Given the description of an element on the screen output the (x, y) to click on. 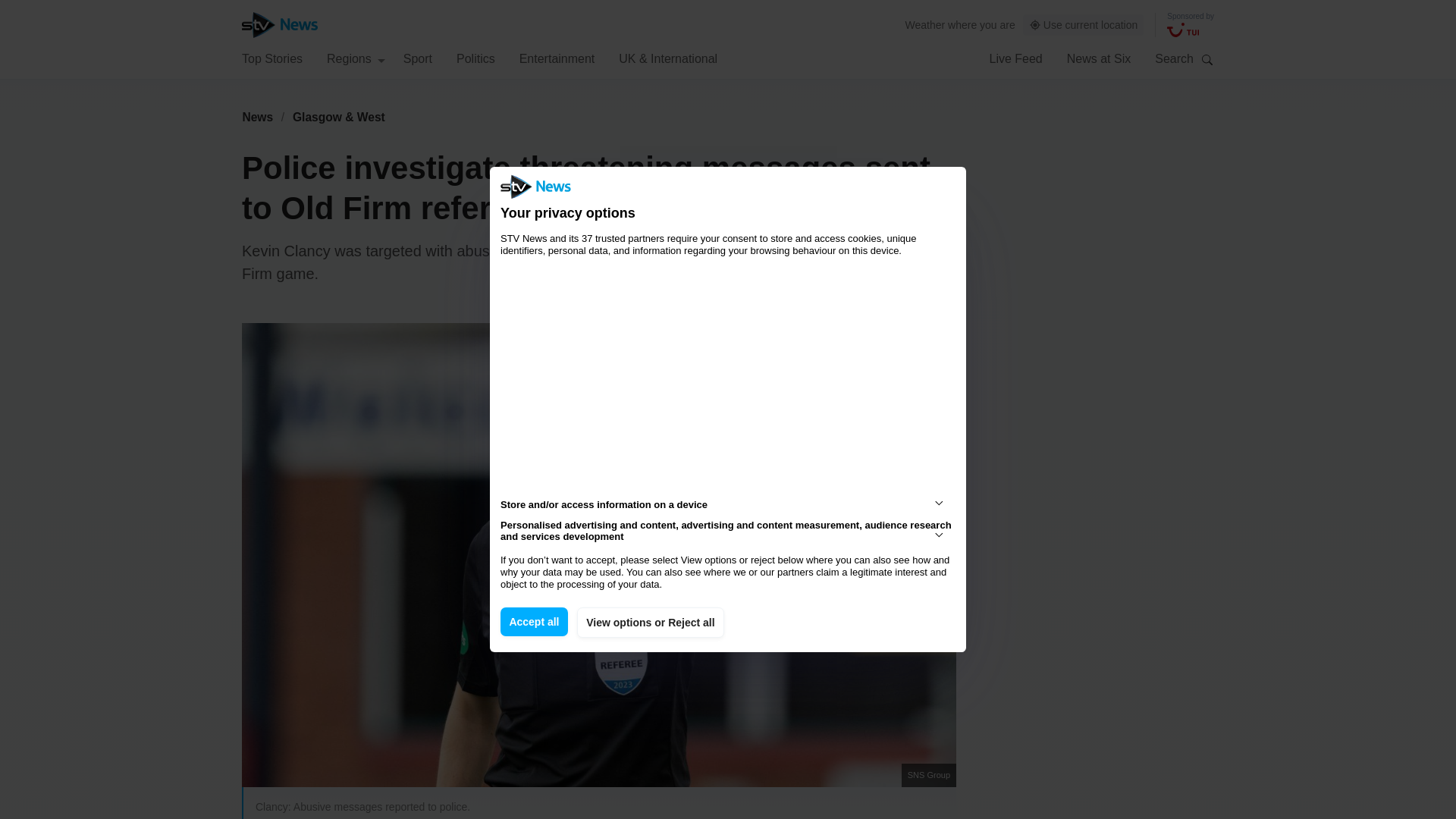
Regions (355, 57)
Search (1206, 59)
Entertainment (557, 57)
Weather (924, 24)
Politics (476, 57)
Live Feed (1015, 57)
News at Six (1099, 57)
Top Stories (271, 57)
News (257, 116)
